Given the description of an element on the screen output the (x, y) to click on. 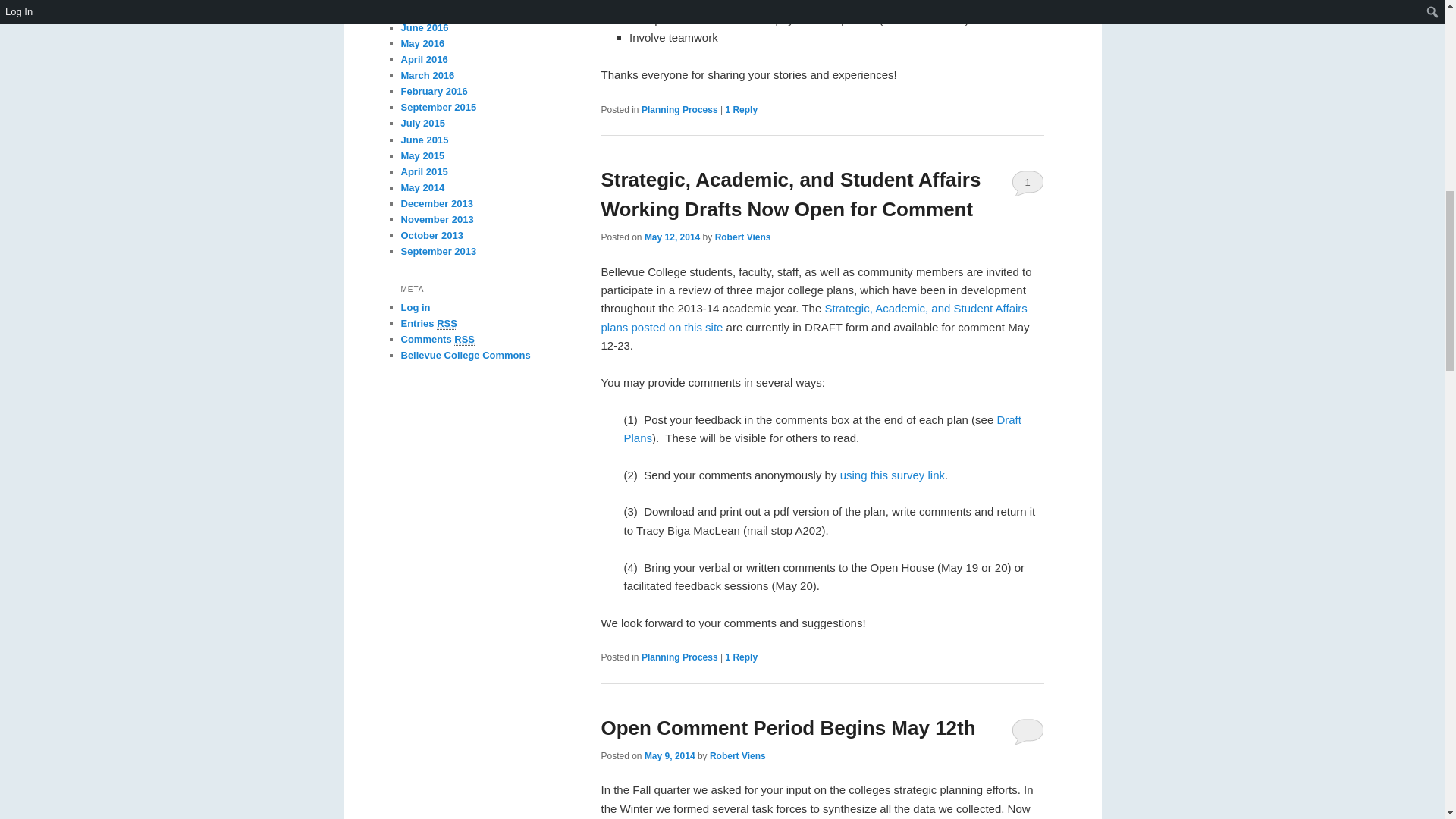
May 9, 2014 (670, 756)
Planning Process (679, 109)
9:09 am (672, 236)
Robert Viens (737, 756)
Draft Plans (821, 428)
Draft Plans (812, 317)
9:54 am (670, 756)
Planning Process (679, 656)
1 Reply (741, 109)
